Given the description of an element on the screen output the (x, y) to click on. 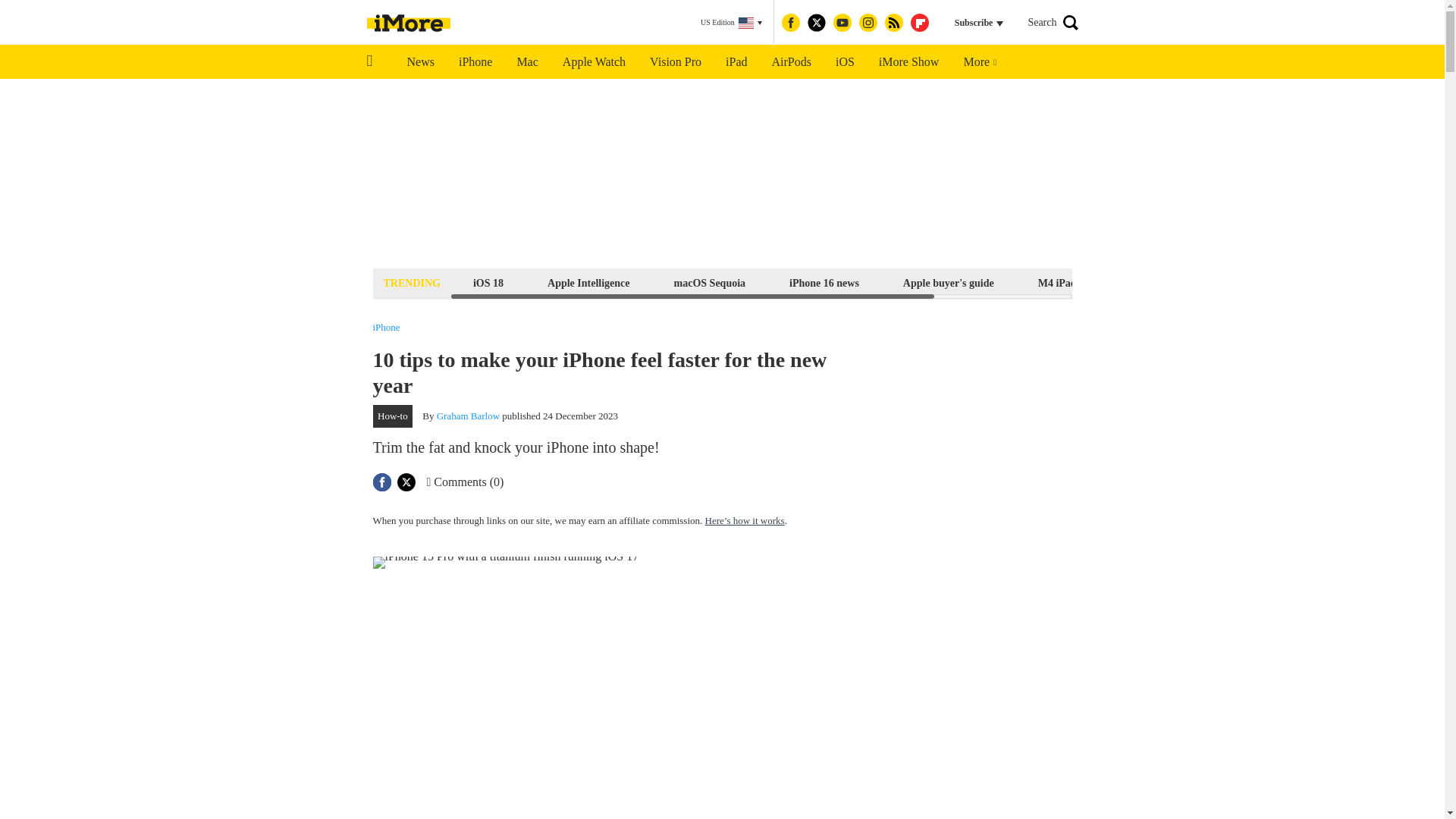
iMore Show (909, 61)
iOS (845, 61)
Vision Pro (675, 61)
US Edition (731, 22)
AirPods (792, 61)
iPad (735, 61)
Mac (526, 61)
News (419, 61)
iPhone (474, 61)
Apple Watch (593, 61)
